Given the description of an element on the screen output the (x, y) to click on. 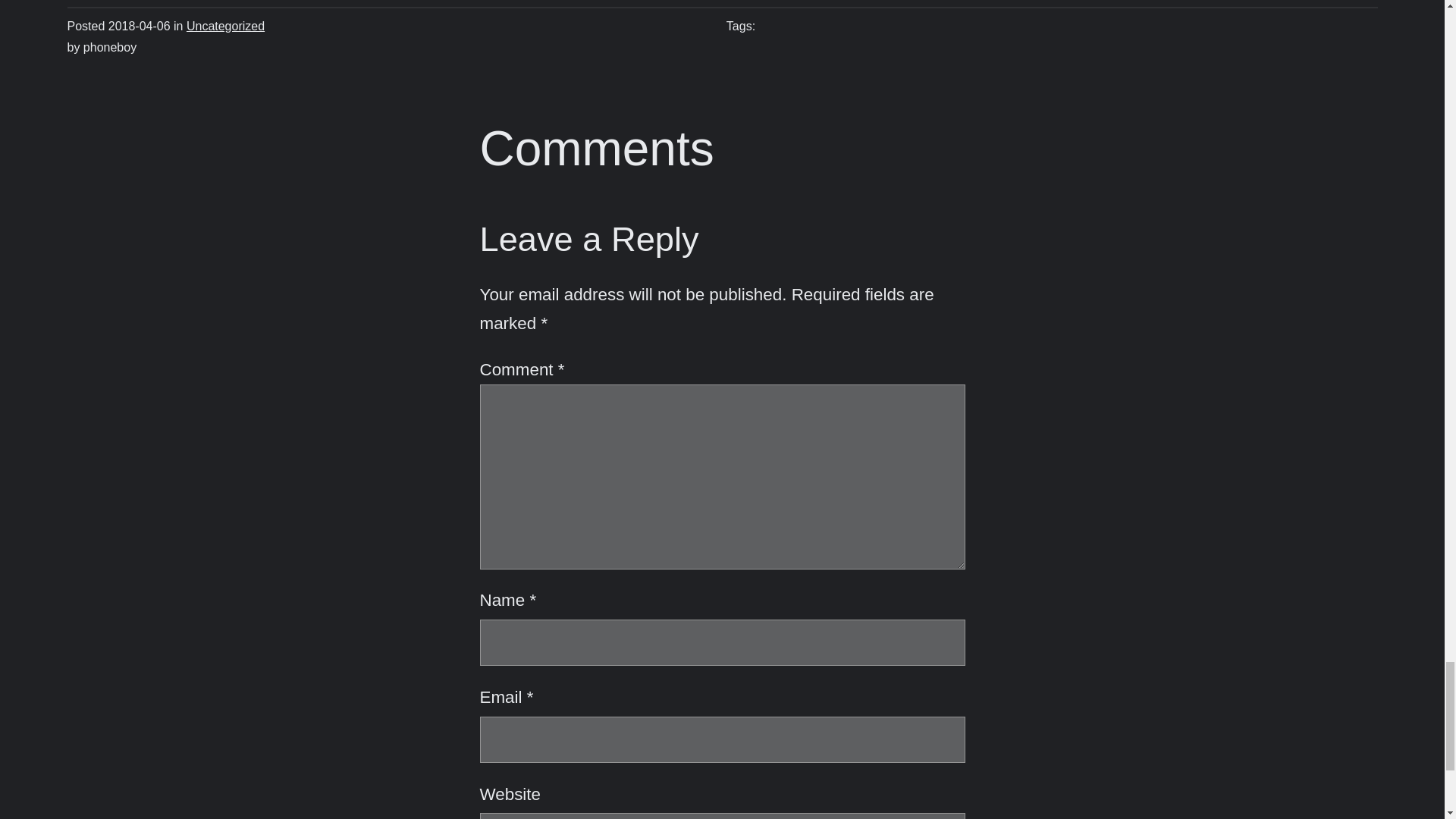
Uncategorized (225, 25)
